Given the description of an element on the screen output the (x, y) to click on. 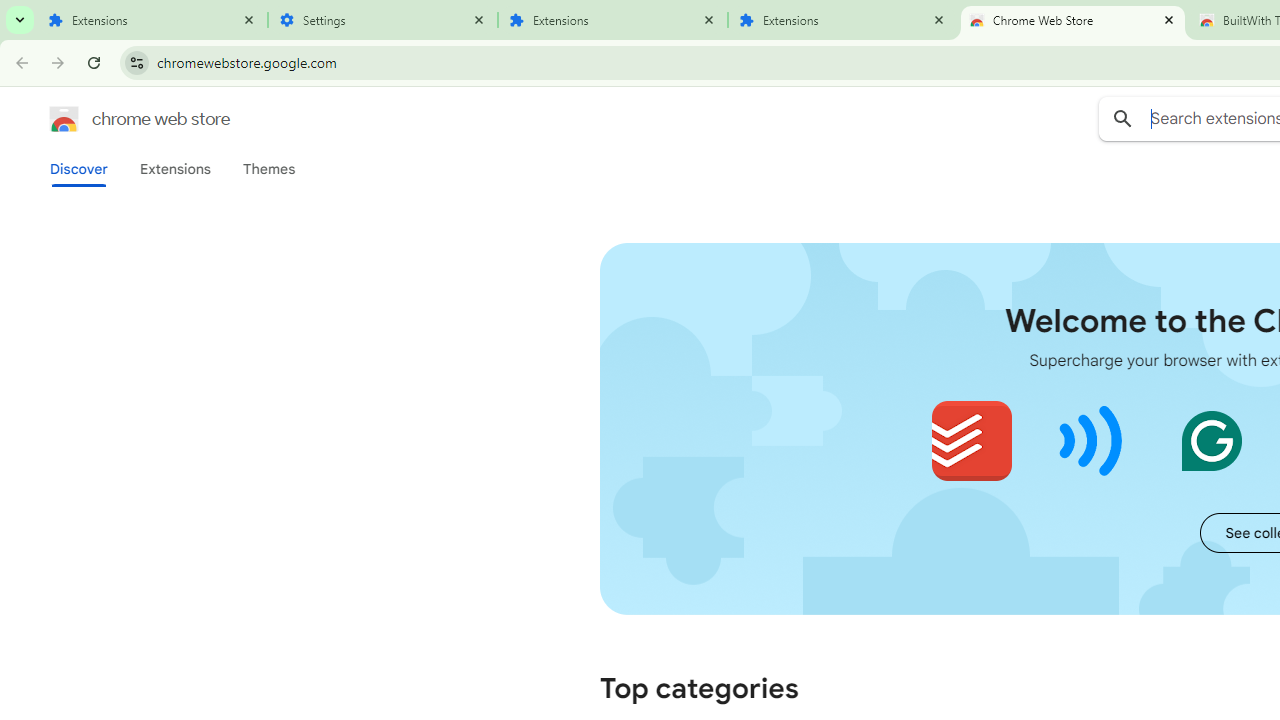
Volume Master (1091, 440)
Chrome Web Store (1072, 20)
